Given the description of an element on the screen output the (x, y) to click on. 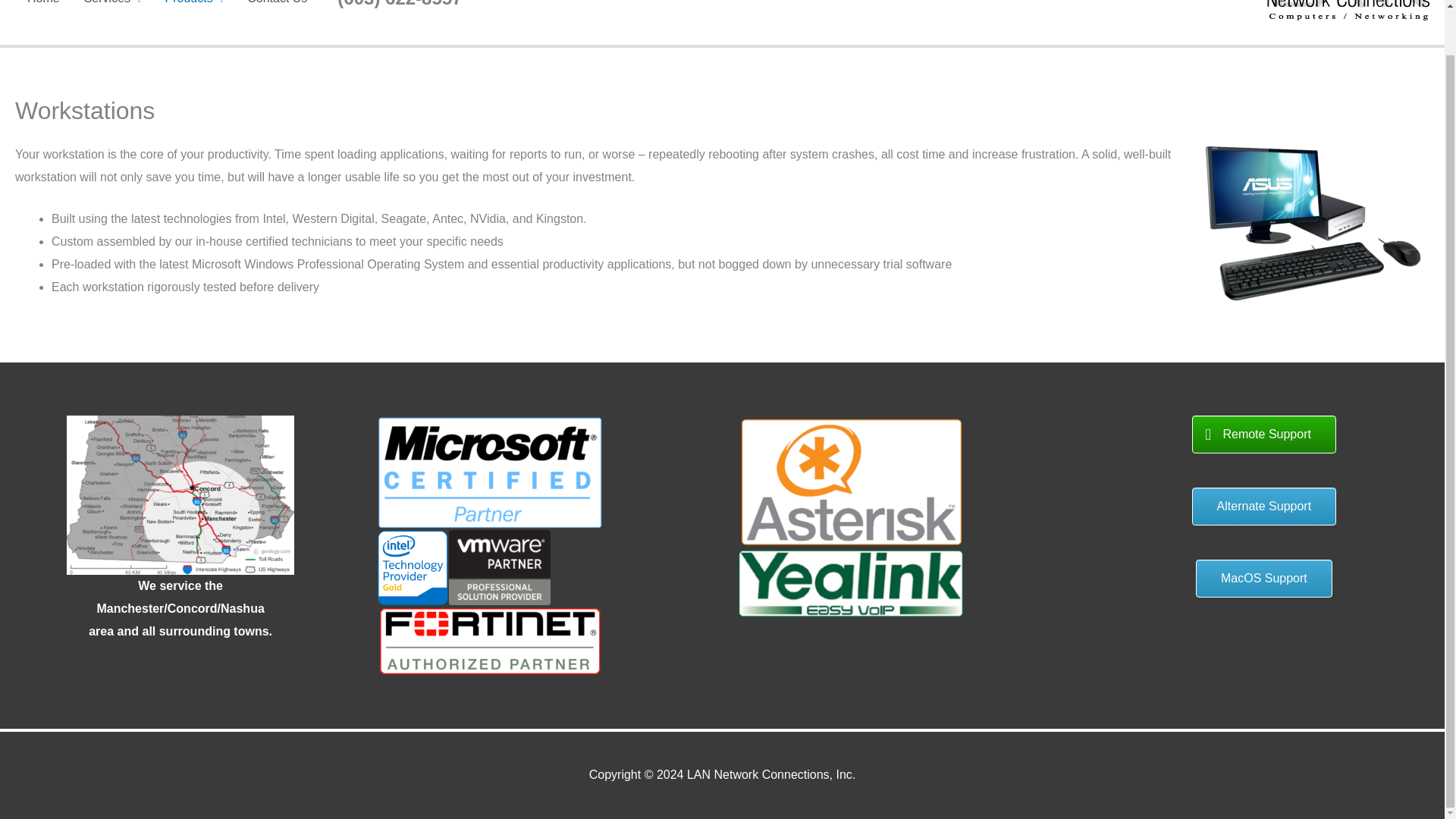
Remote Support (1264, 434)
MacOS Support (1263, 578)
Alternate Support (1264, 506)
Services (111, 11)
Products (193, 11)
Contact Us (276, 11)
Home (42, 11)
